Given the description of an element on the screen output the (x, y) to click on. 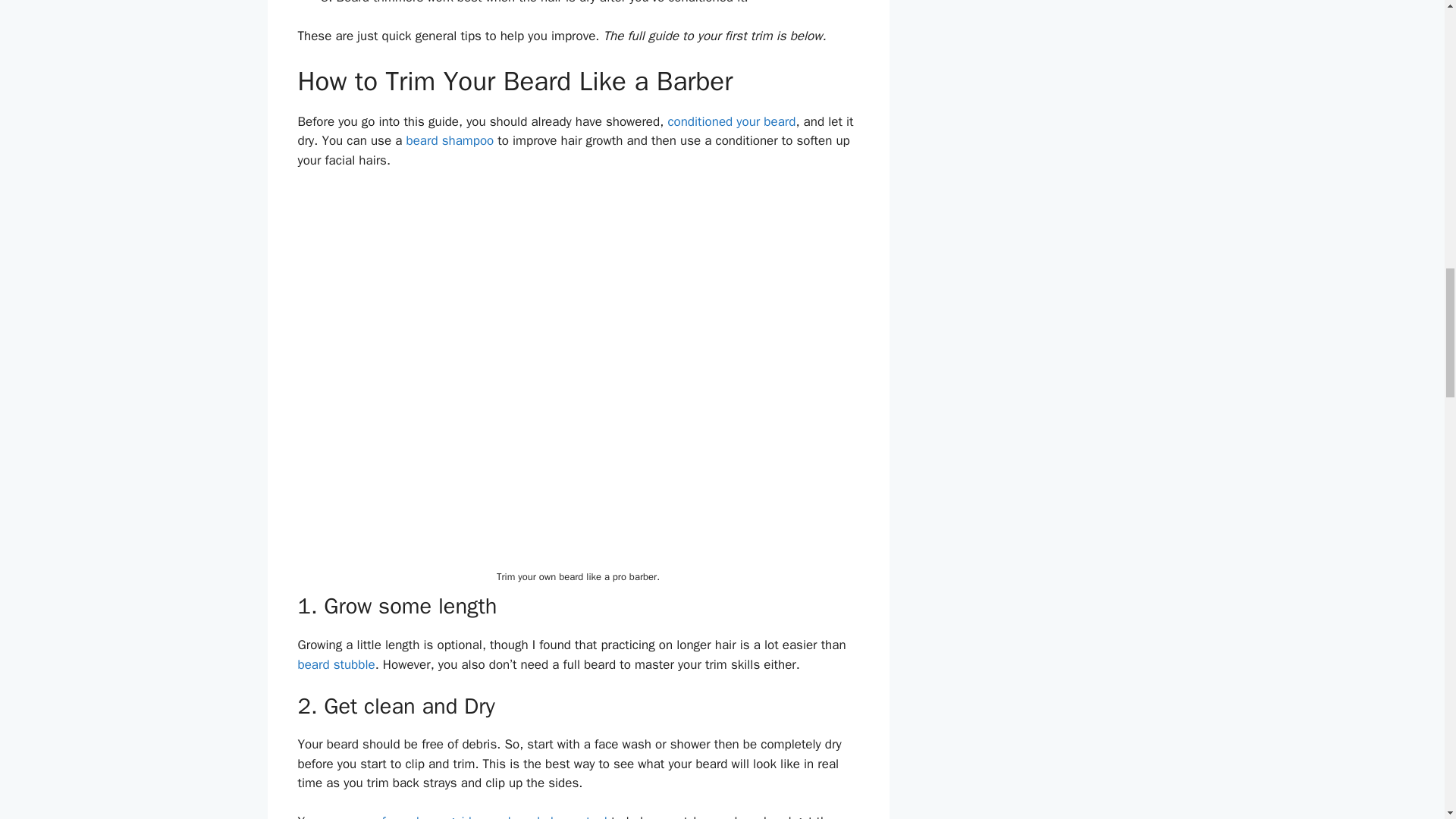
beard shaper tool (557, 816)
beard shampoo (449, 140)
beard stubble (335, 664)
face shape guide (430, 816)
conditioned your beard (730, 121)
